Given the description of an element on the screen output the (x, y) to click on. 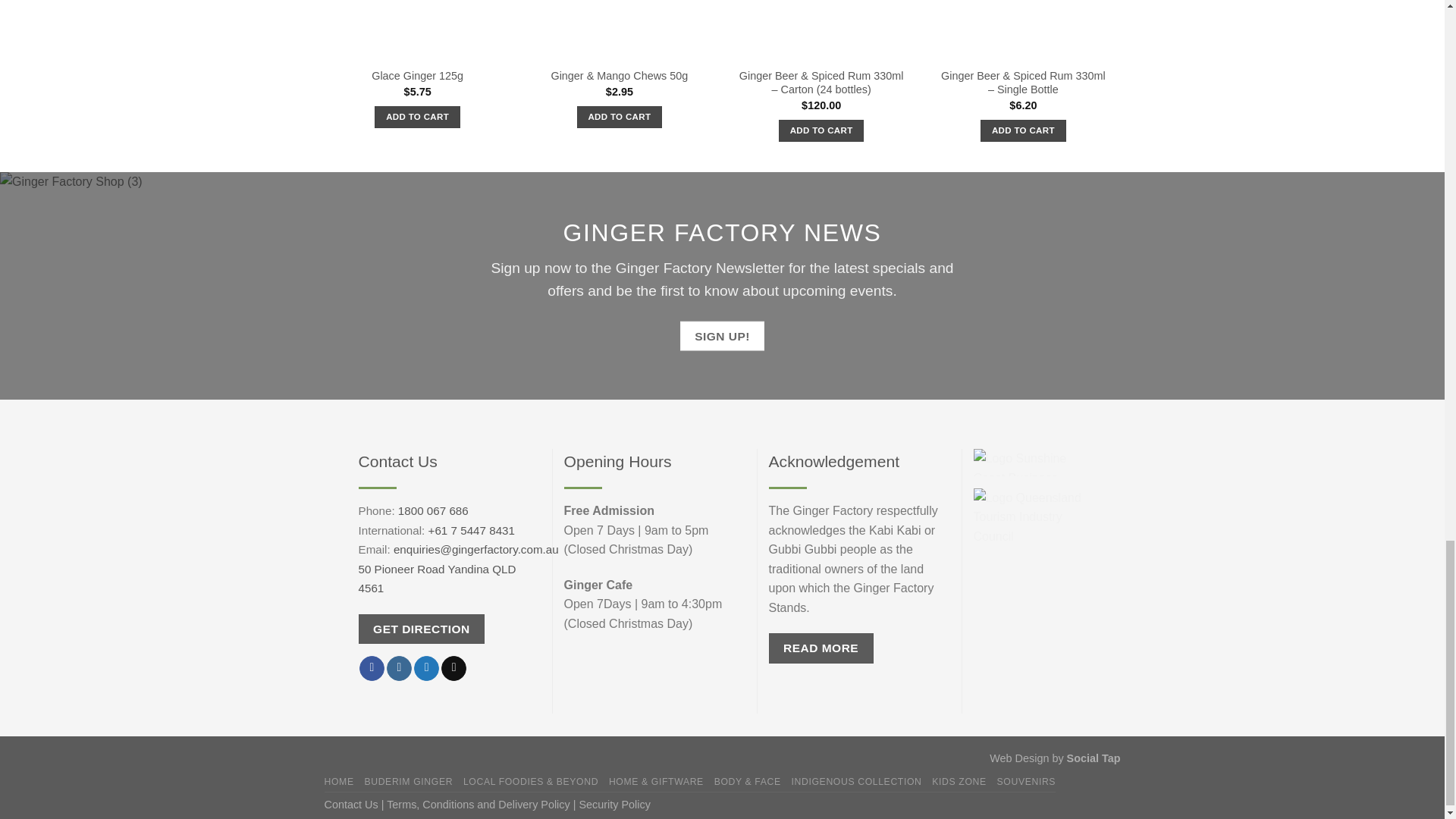
Follow on Facebook (371, 667)
Send us an email (453, 667)
Follow on Instagram (399, 667)
Follow on Twitter (426, 667)
